Given the description of an element on the screen output the (x, y) to click on. 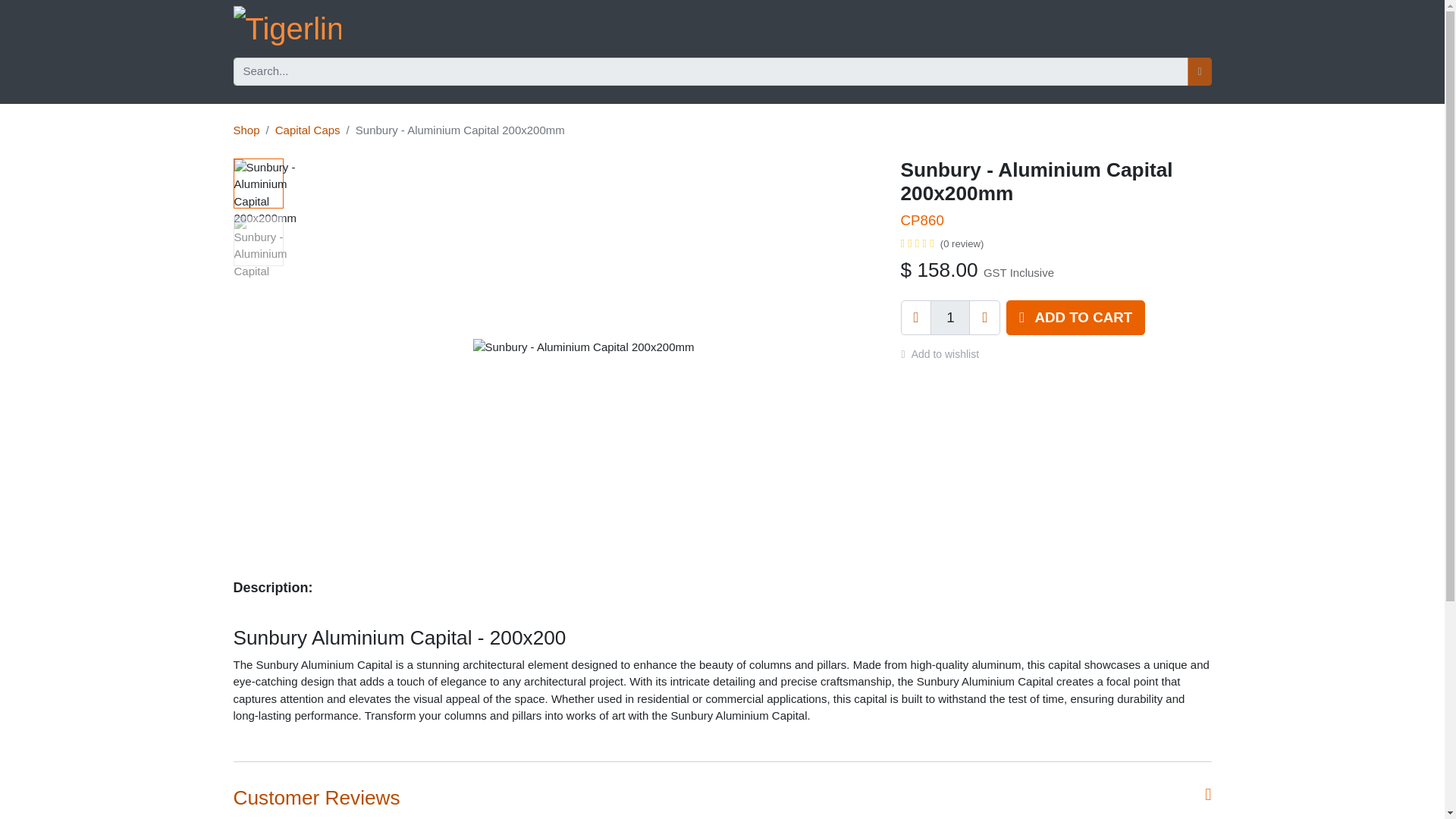
Add to wishlist (946, 354)
Capital Caps (307, 129)
Add one (984, 317)
ADD TO CART (1075, 317)
Shop (246, 129)
1 (949, 317)
Remove one (916, 317)
Add to wishlist (946, 354)
Tigerlink (287, 28)
